Given the description of an element on the screen output the (x, y) to click on. 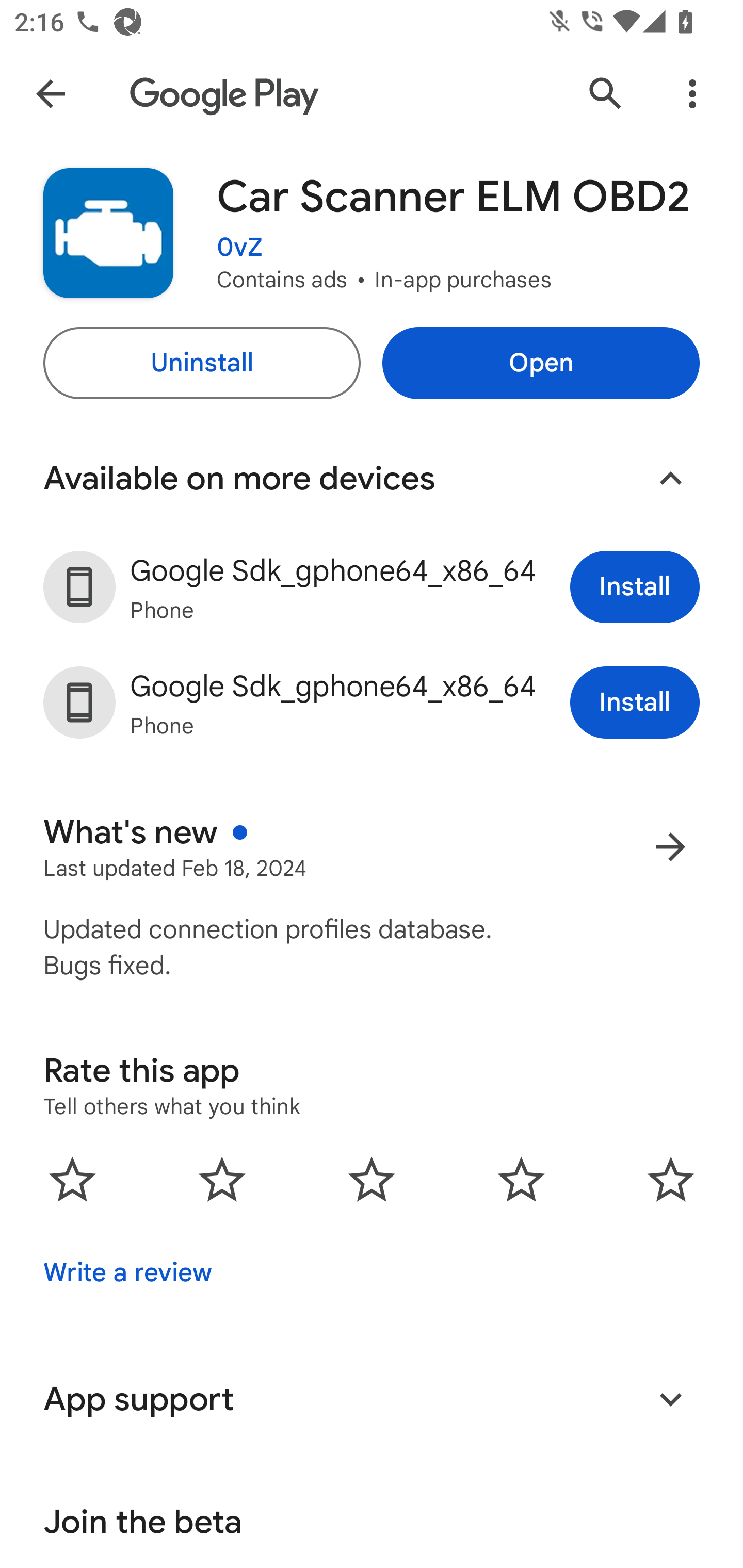
Navigate up (50, 93)
Search Google Play (605, 93)
More Options (692, 93)
0vZ (239, 247)
Uninstall (201, 362)
Open (540, 362)
Available on more devices Collapse (371, 478)
Collapse (670, 478)
Install (634, 587)
Install (634, 702)
More results for What's new (670, 846)
0.0 (371, 1179)
Write a review (127, 1272)
App support Expand (371, 1399)
Expand (670, 1399)
